Given the description of an element on the screen output the (x, y) to click on. 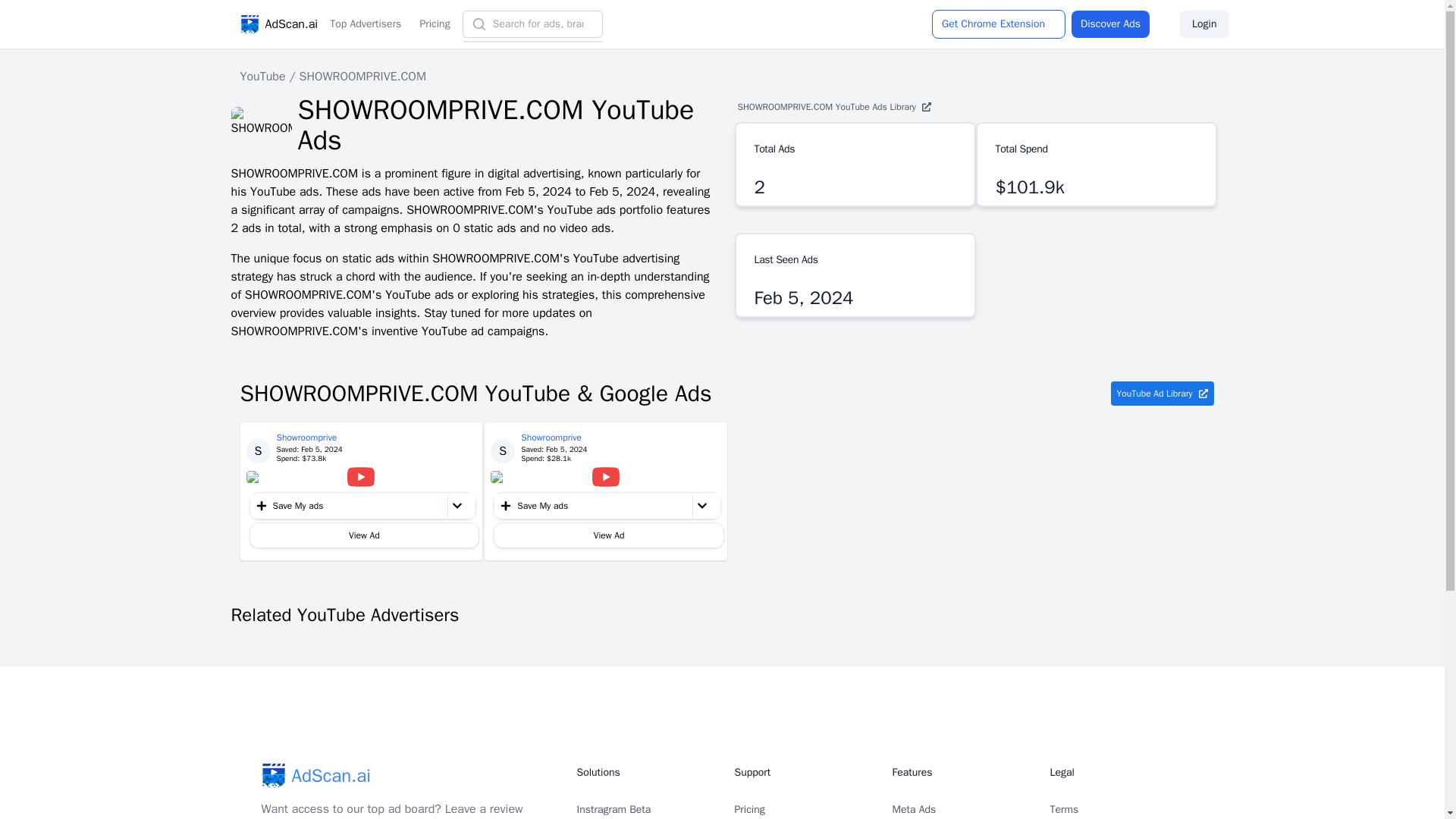
Showroomprive (309, 437)
Terms (1063, 809)
Login (1203, 23)
Meta Ads (913, 809)
SHOWROOMPRIVE.COM YouTube Ads Library (971, 106)
Top Advertisers (365, 23)
Pricing (434, 23)
Discover Ads (1110, 23)
Instragram Beta (613, 809)
Pricing (748, 809)
